Given the description of an element on the screen output the (x, y) to click on. 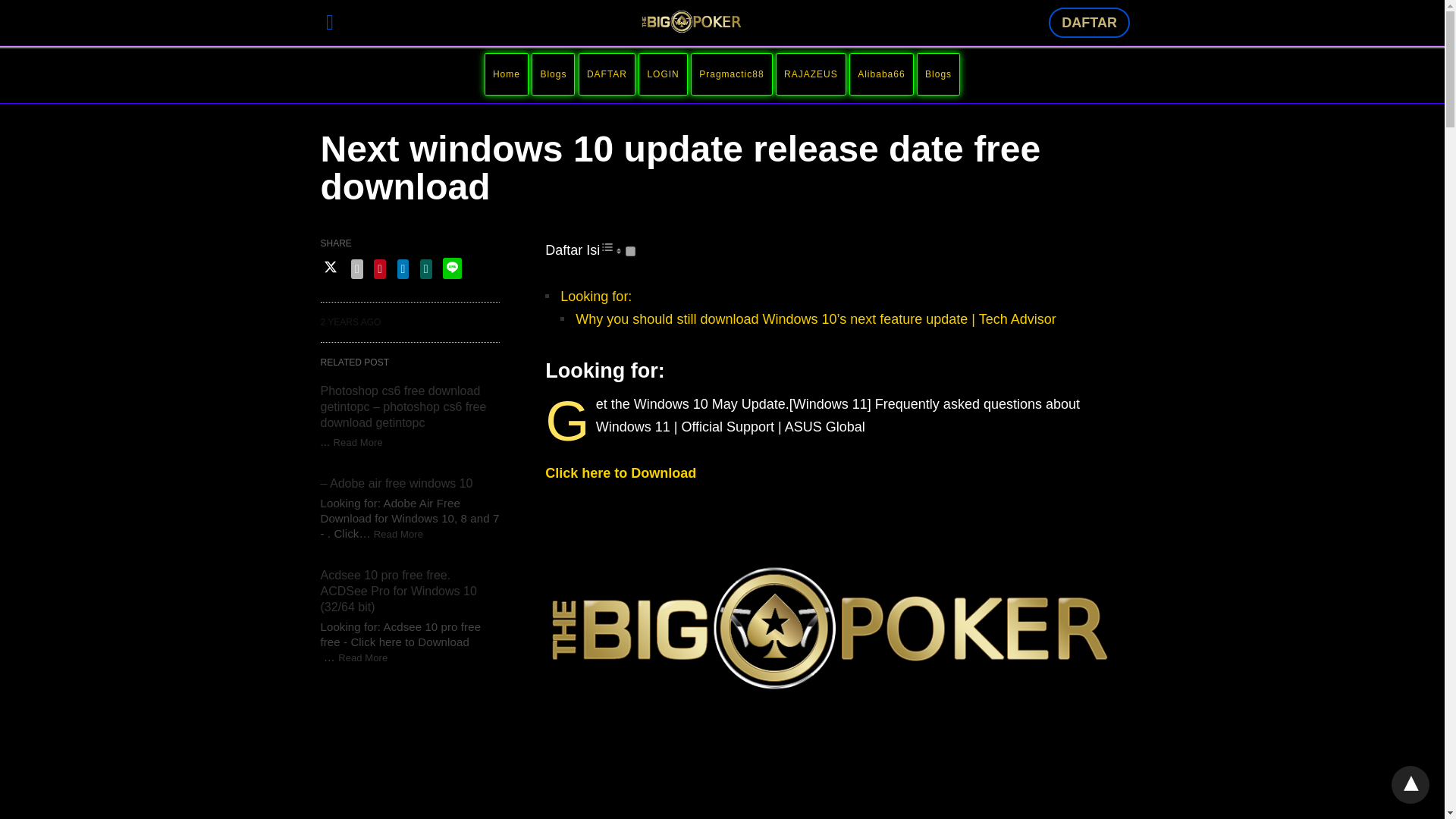
DAFTAR (1088, 22)
on (630, 251)
DAFTAR (606, 73)
back to top (1410, 784)
line share (451, 268)
Pragmactic88 (730, 73)
Looking for: (595, 296)
Click here to Download (619, 473)
Alibaba66 (880, 73)
LOGIN (662, 73)
Looking for: (595, 296)
RAJAZEUS (811, 73)
